Given the description of an element on the screen output the (x, y) to click on. 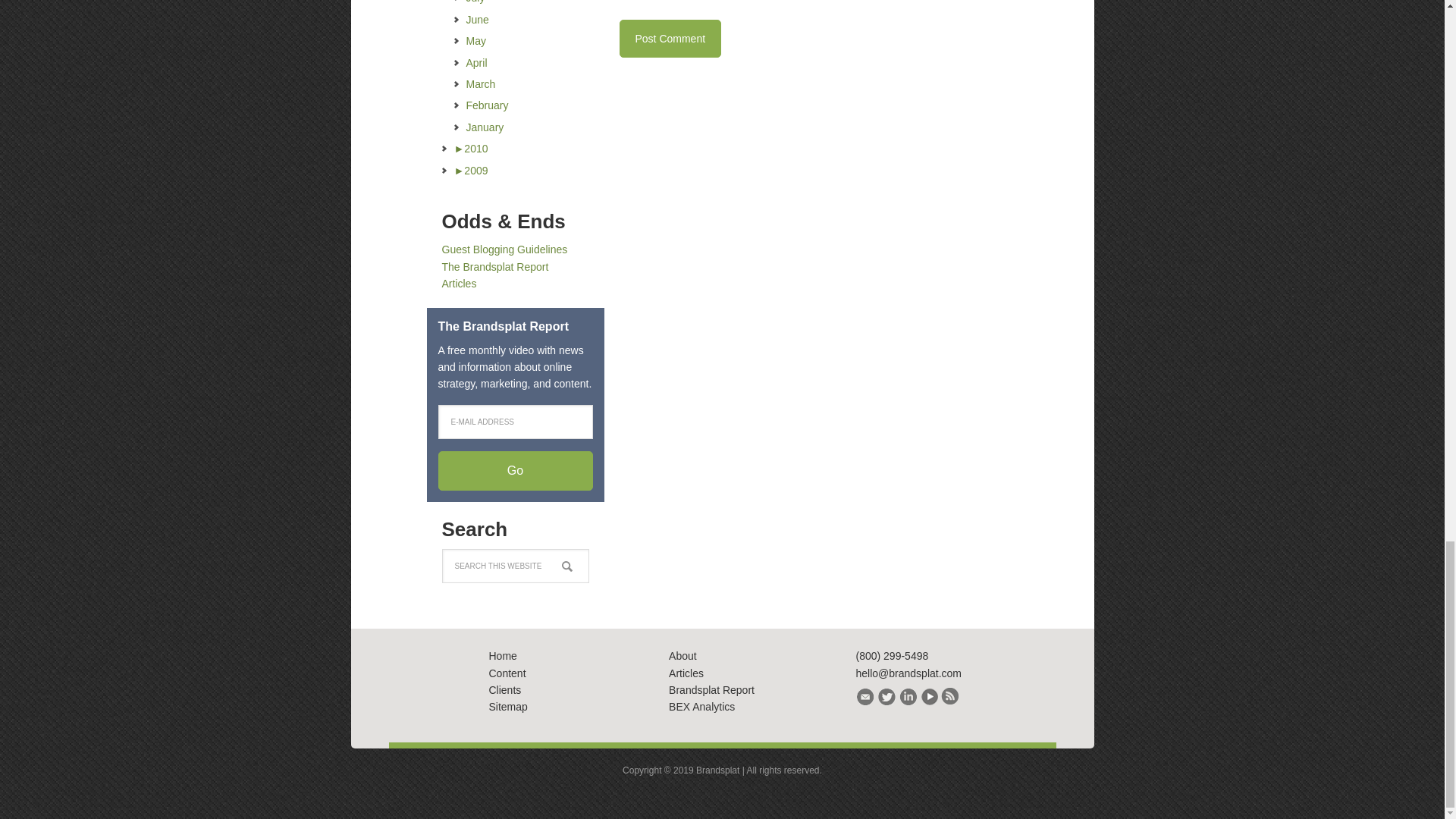
Post Comment (669, 38)
Post Comment (669, 38)
Go (515, 470)
